Given the description of an element on the screen output the (x, y) to click on. 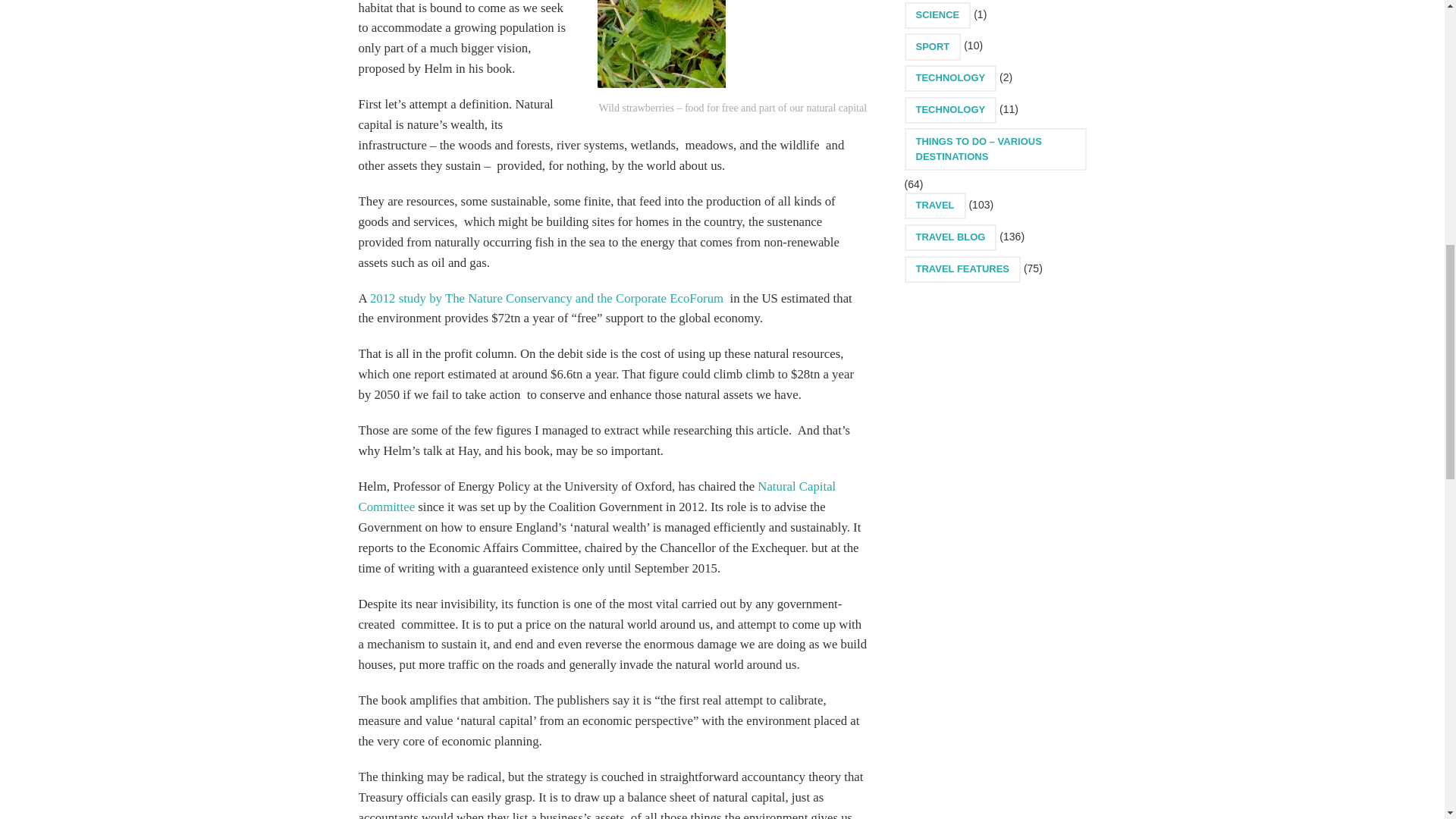
SPORT (932, 46)
SCIENCE (937, 15)
TECHNOLOGY (949, 110)
Natural Capital Committee (596, 496)
TECHNOLOGY (949, 78)
